Given the description of an element on the screen output the (x, y) to click on. 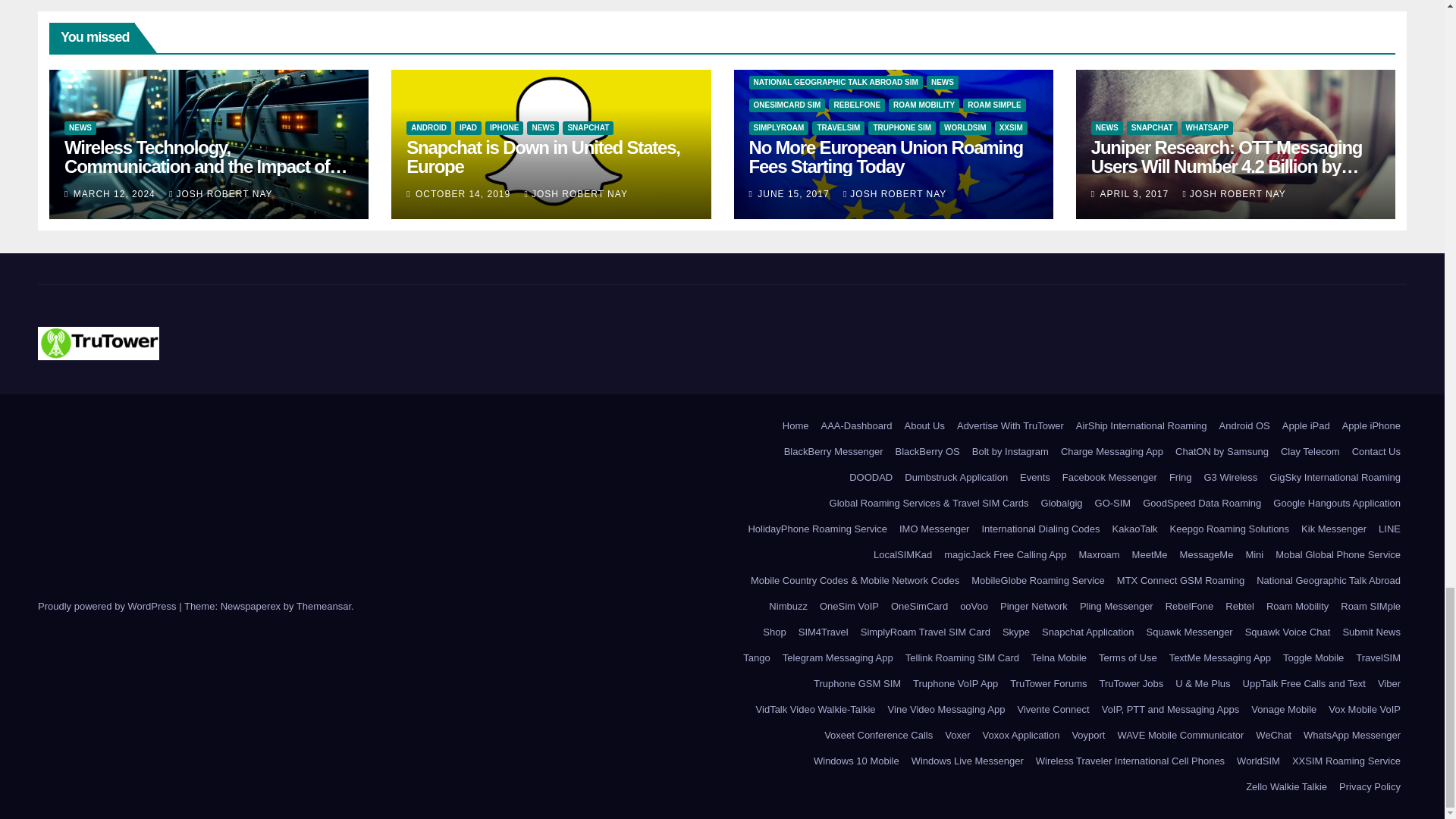
Permalink to: Snapchat is Down in United States, Europe (542, 156)
